Given the description of an element on the screen output the (x, y) to click on. 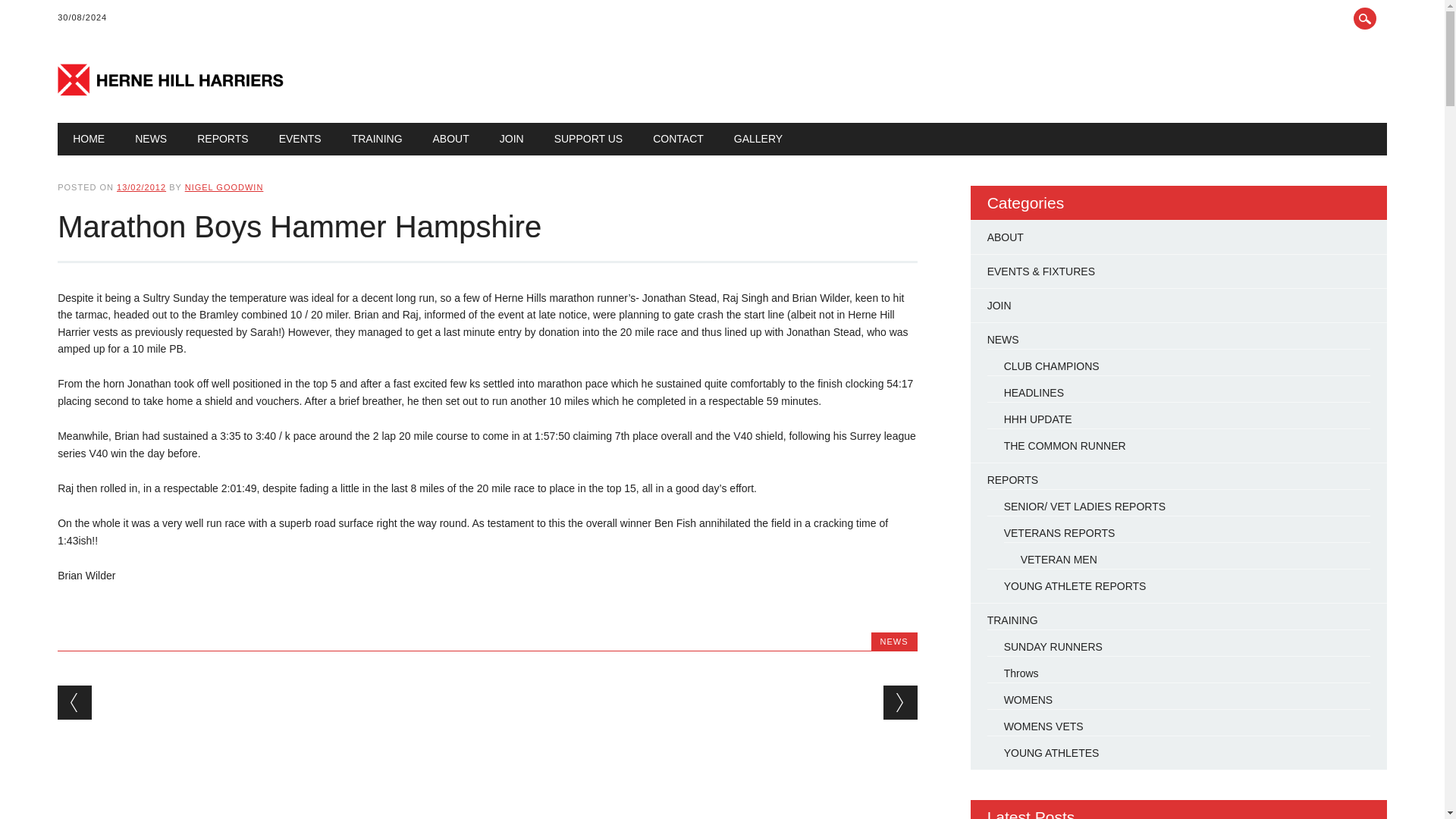
EVENTS (299, 138)
ABOUT (450, 138)
HOME (88, 138)
Herne Hill Harriers (171, 91)
REPORTS (222, 138)
View all posts by Nigel Goodwin (223, 186)
TRAINING (376, 138)
11:34 pm (140, 186)
NEWS (150, 138)
